Given the description of an element on the screen output the (x, y) to click on. 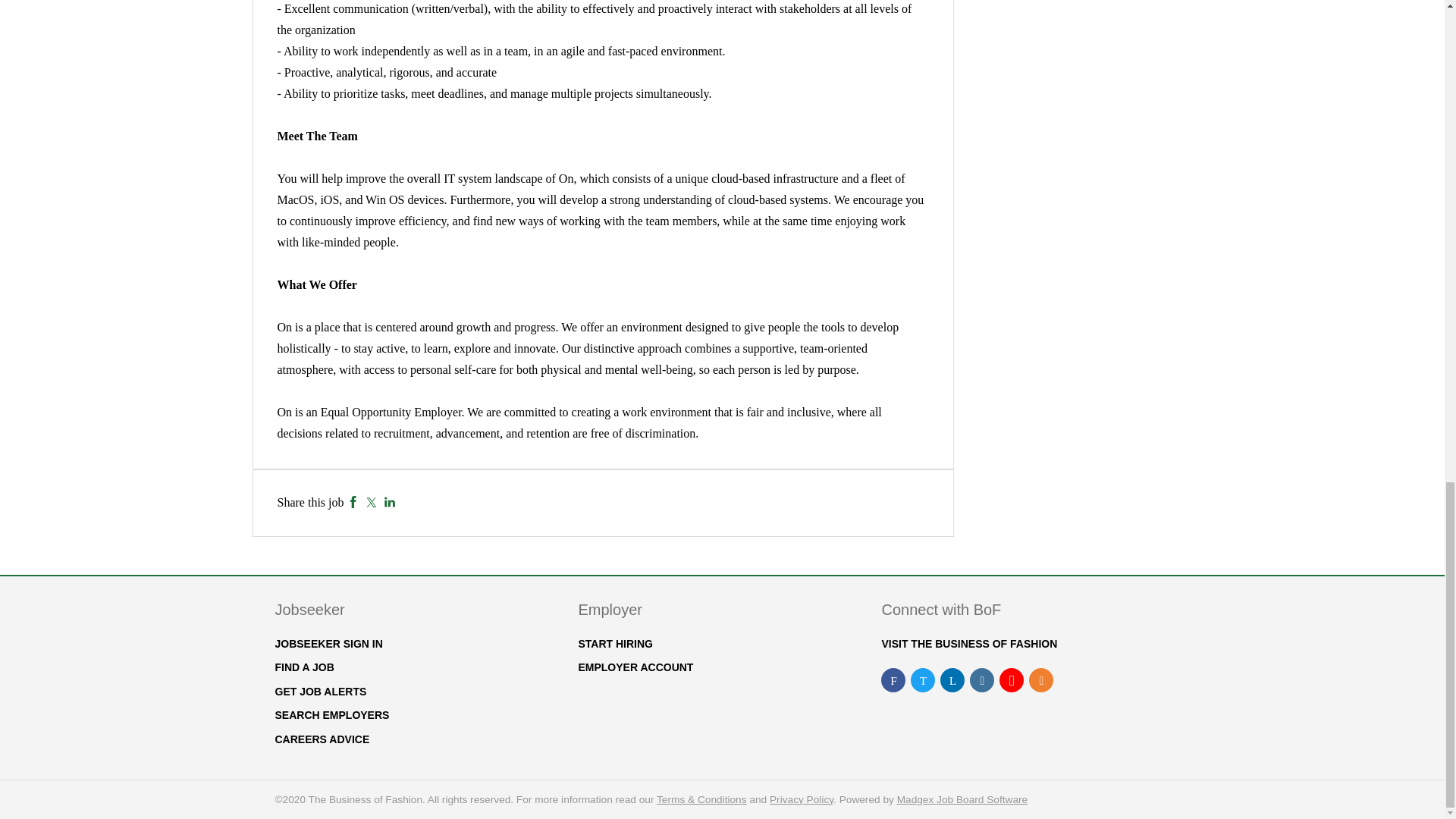
JOBSEEKER SIGN IN (328, 644)
FIND A JOB (304, 666)
Facebook (353, 502)
GET JOB ALERTS (320, 691)
SEARCH EMPLOYERS (331, 715)
Twitter (371, 502)
LinkedIn (390, 502)
